Given the description of an element on the screen output the (x, y) to click on. 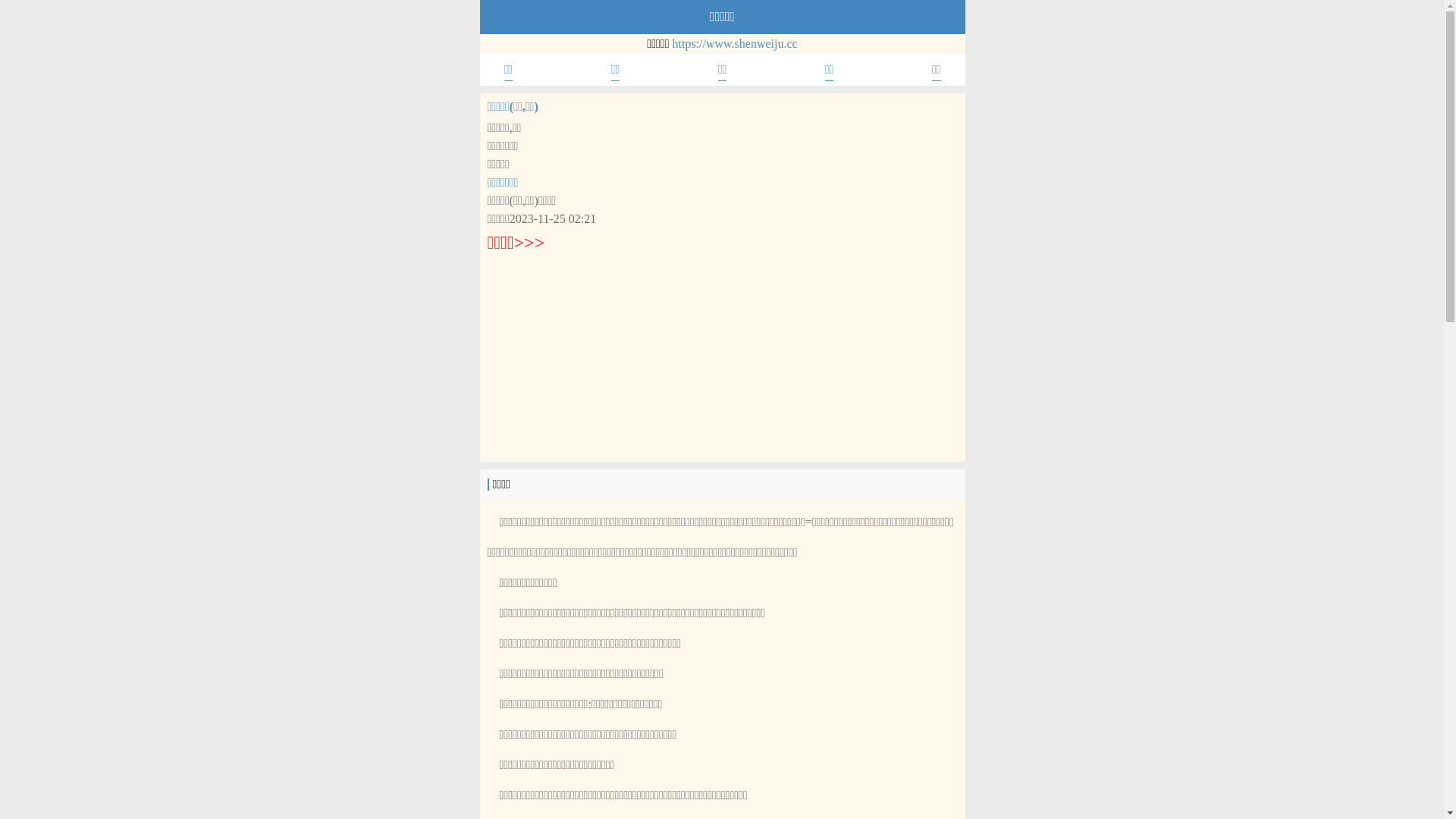
https://www.shenweiju.cc Element type: text (734, 43)
Advertisement Element type: hover (721, 355)
